Given the description of an element on the screen output the (x, y) to click on. 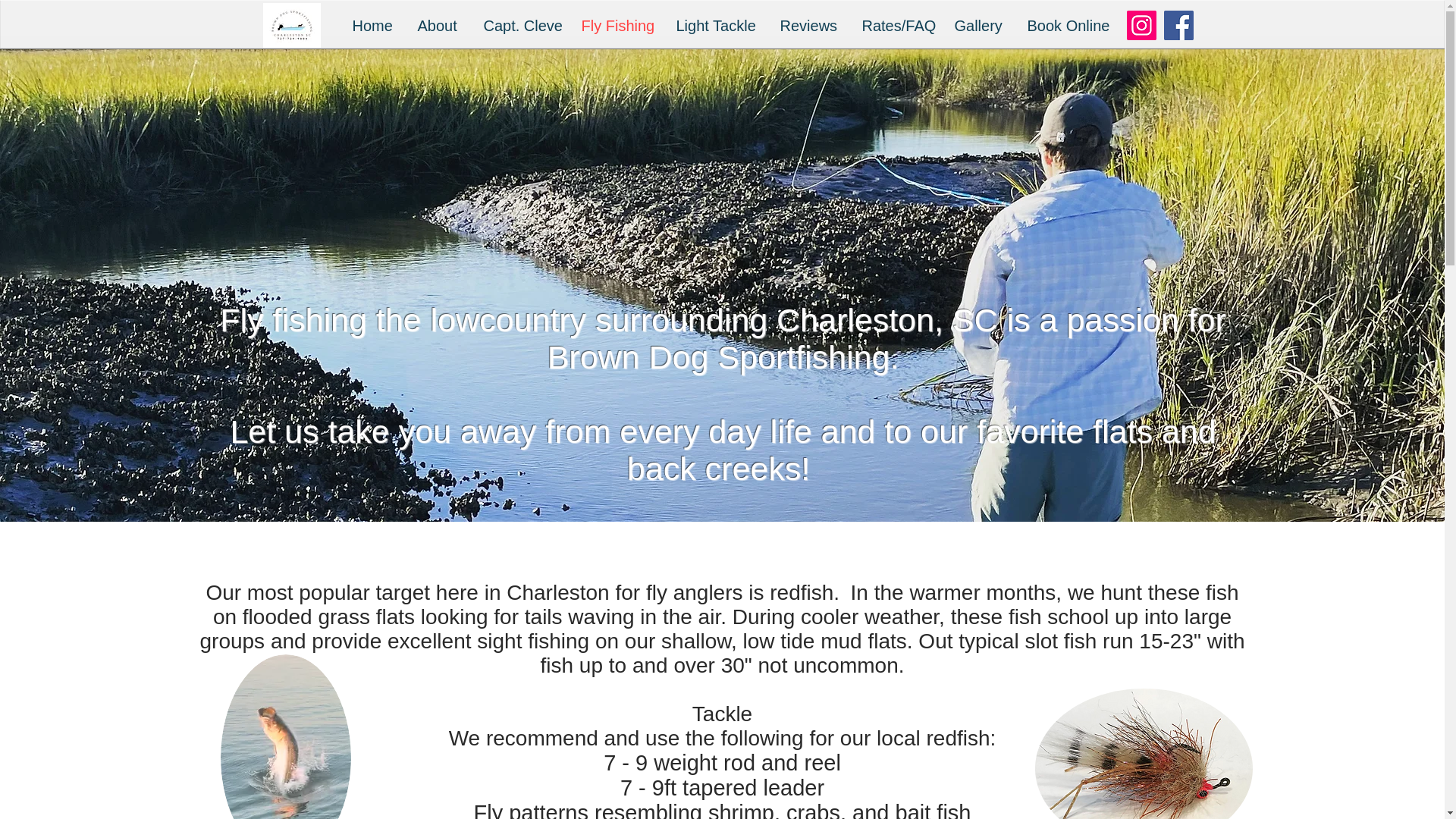
Fly Fishing (617, 25)
Capt. Cleve (520, 25)
Light Tackle (715, 25)
Home (373, 25)
Book Online (1067, 25)
Reviews (809, 25)
About (438, 25)
Gallery (979, 25)
